Given the description of an element on the screen output the (x, y) to click on. 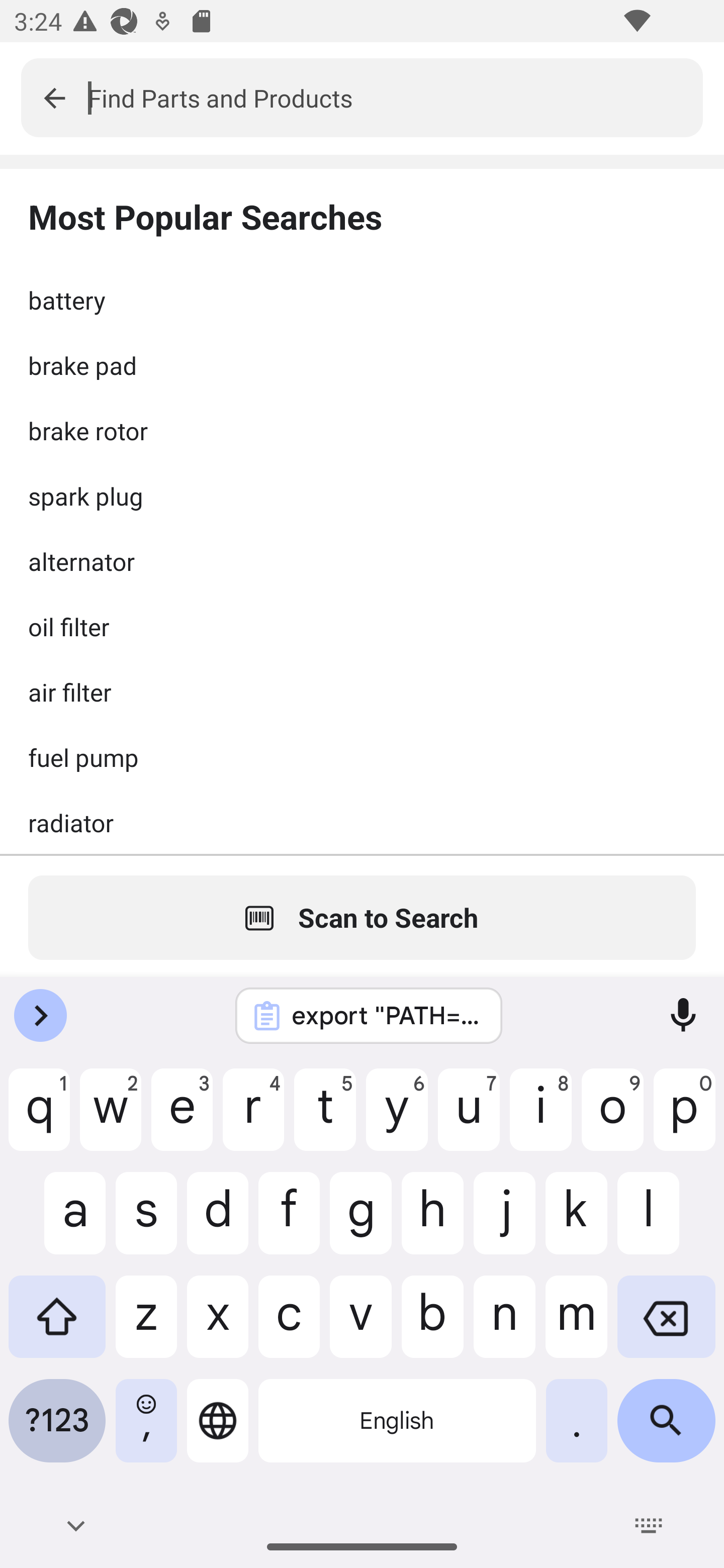
 (54, 97)
Find Parts and Products Text input field (395, 97)
battery (361, 300)
brake pad (361, 365)
brake rotor (361, 430)
spark plug (361, 496)
alternator (361, 561)
oil filter (361, 626)
air filter (361, 692)
fuel pump (361, 757)
radiator (361, 822)
